Given the description of an element on the screen output the (x, y) to click on. 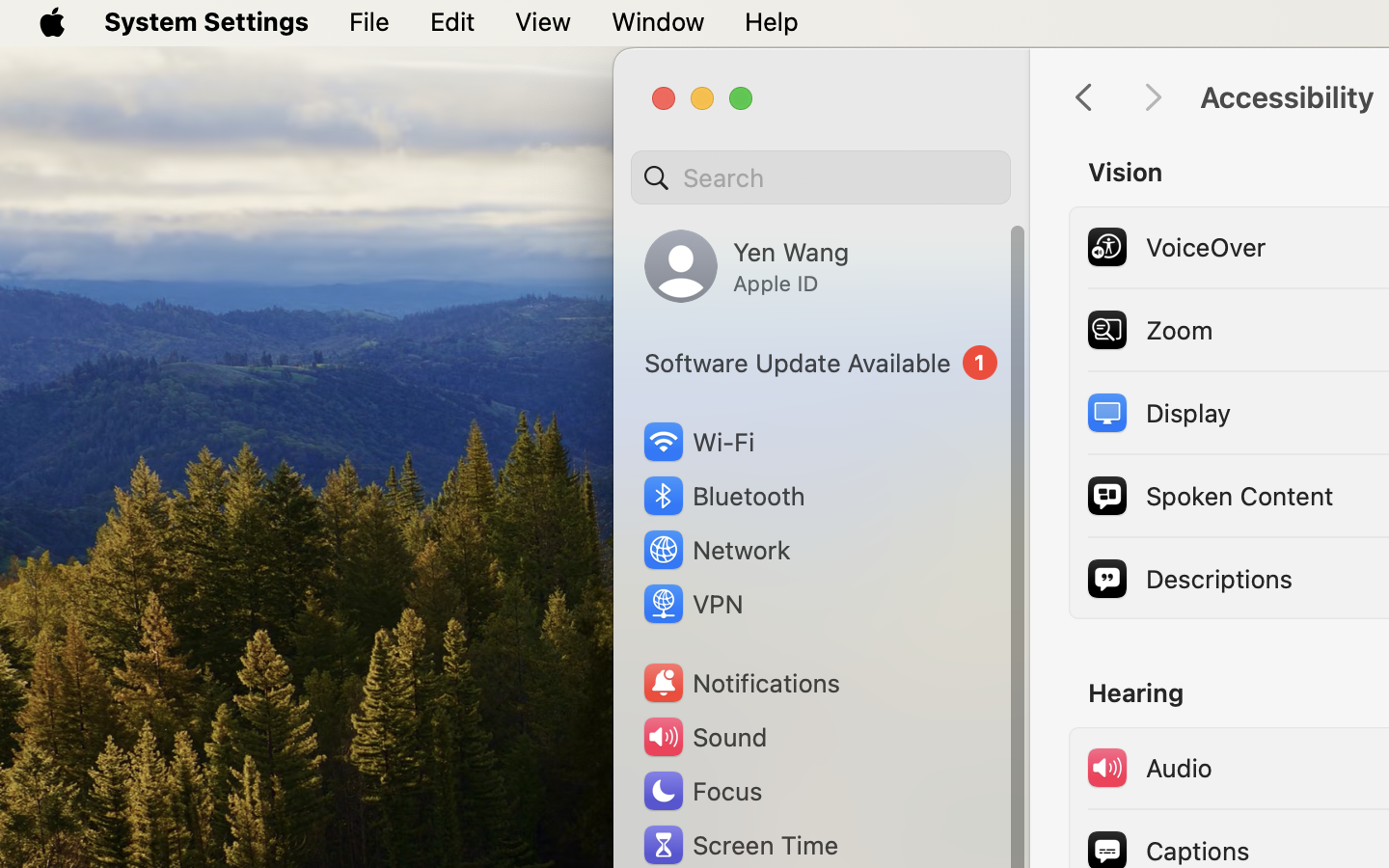
Network Element type: AXStaticText (715, 549)
Wi‑Fi Element type: AXStaticText (697, 441)
Sound Element type: AXStaticText (703, 736)
Focus Element type: AXStaticText (701, 790)
Screen Time Element type: AXStaticText (739, 844)
